Given the description of an element on the screen output the (x, y) to click on. 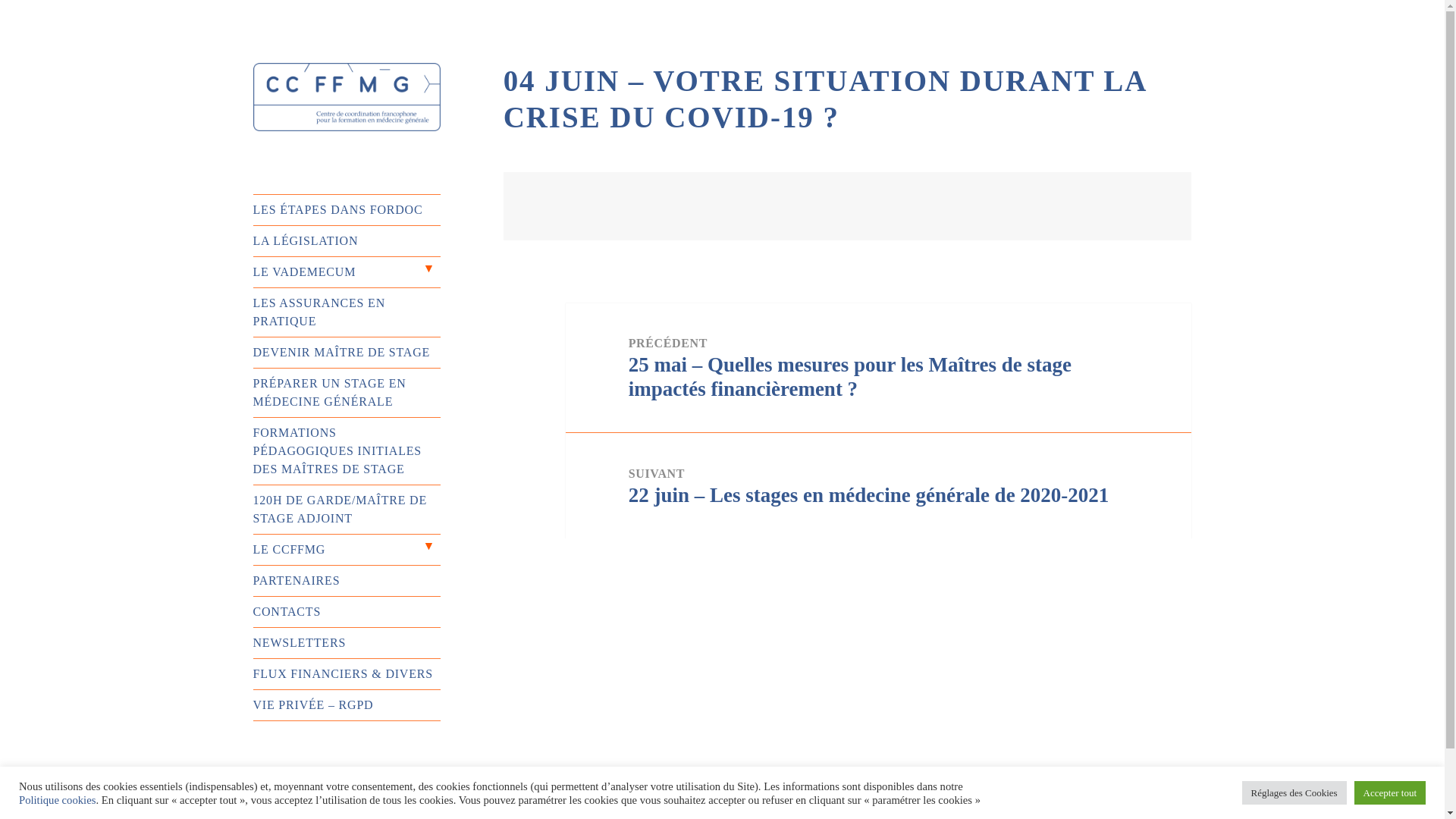
ouvrir le sous-menu Element type: text (428, 272)
Accepter tout Element type: text (1389, 792)
NEWSLETTERS Element type: text (347, 642)
CONTACTS Element type: text (347, 611)
LE VADEMECUM Element type: text (347, 272)
PARTENAIRES Element type: text (347, 580)
LE CCFFMG Element type: text (347, 549)
ouvrir le sous-menu Element type: text (428, 549)
Politique cookies Element type: text (56, 799)
FLUX FINANCIERS & DIVERS Element type: text (347, 673)
LES ASSURANCES EN PRATIQUE Element type: text (347, 312)
